Given the description of an element on the screen output the (x, y) to click on. 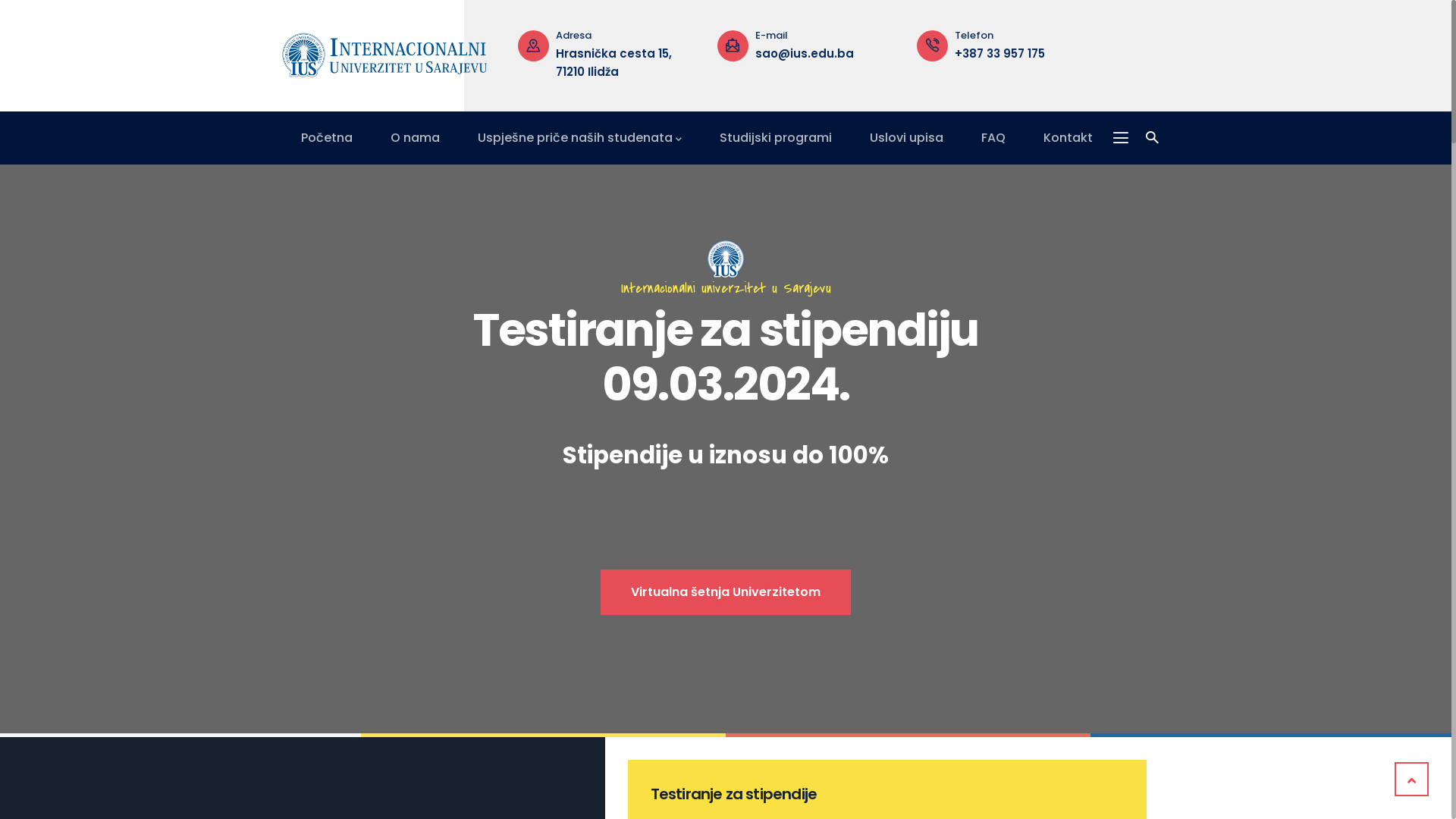
Kontakt Element type: text (1067, 137)
O nama Element type: text (414, 137)
Uslovi upisa Element type: text (906, 137)
Studijski programi Element type: text (775, 137)
FAQ Element type: text (993, 137)
+387 33 957 175 Element type: text (800, 53)
sao@ius.edu.ba Element type: text (604, 53)
Skip to main content Element type: text (0, 0)
